Given the description of an element on the screen output the (x, y) to click on. 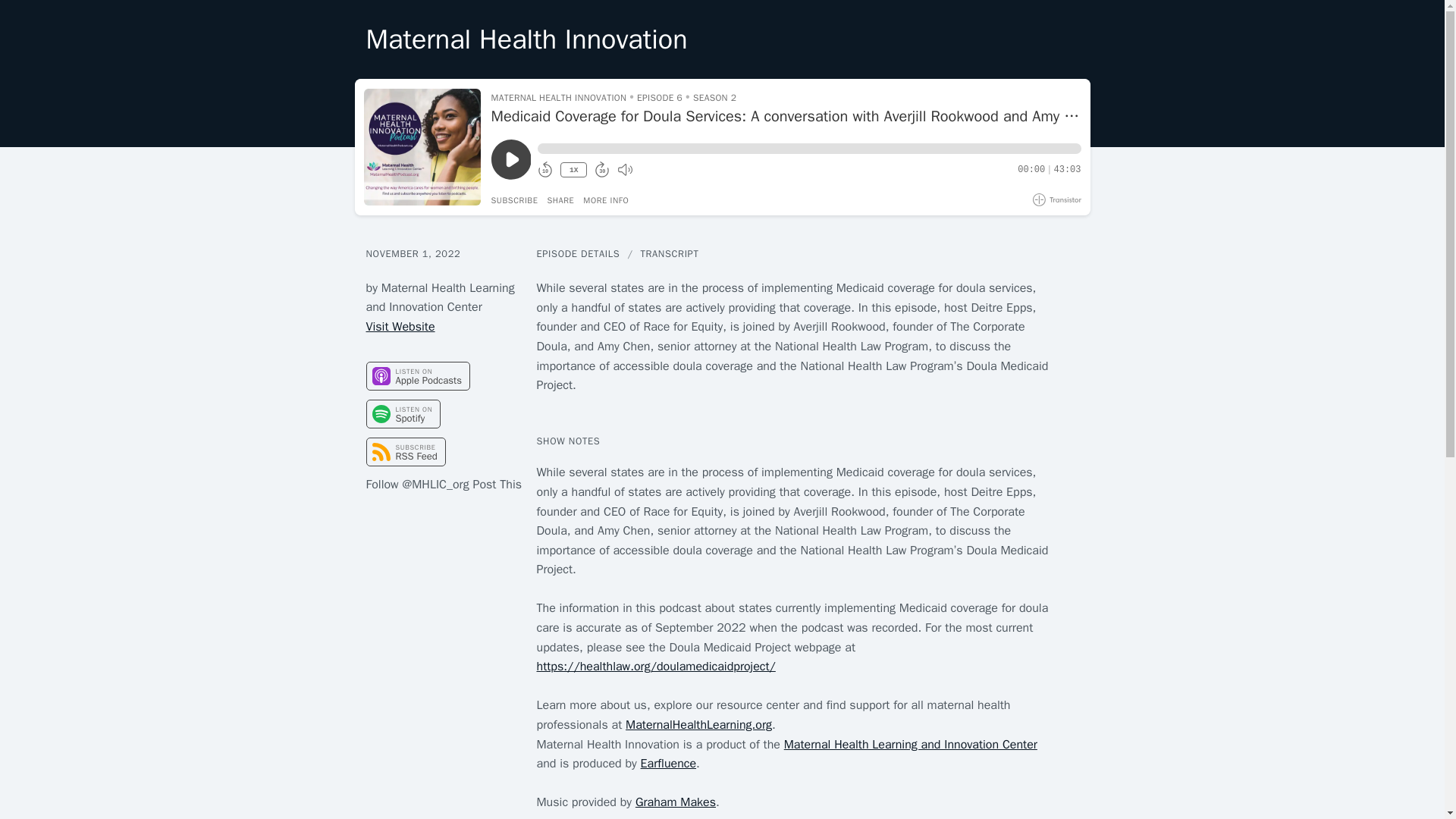
Seek within Episode (808, 148)
Rewind 10 seconds (545, 170)
30 (602, 170)
Show sharing options (560, 200)
1X (573, 169)
SUBSCRIBE (515, 200)
SHARE (560, 200)
Fast Forward 30 seconds (602, 170)
Show subscribe options (515, 200)
Show episode details (605, 200)
Play (511, 159)
MORE INFO (605, 200)
10 (545, 170)
Visit Transistor.fm - Podcast Hosting and Analytics (1056, 199)
